Given the description of an element on the screen output the (x, y) to click on. 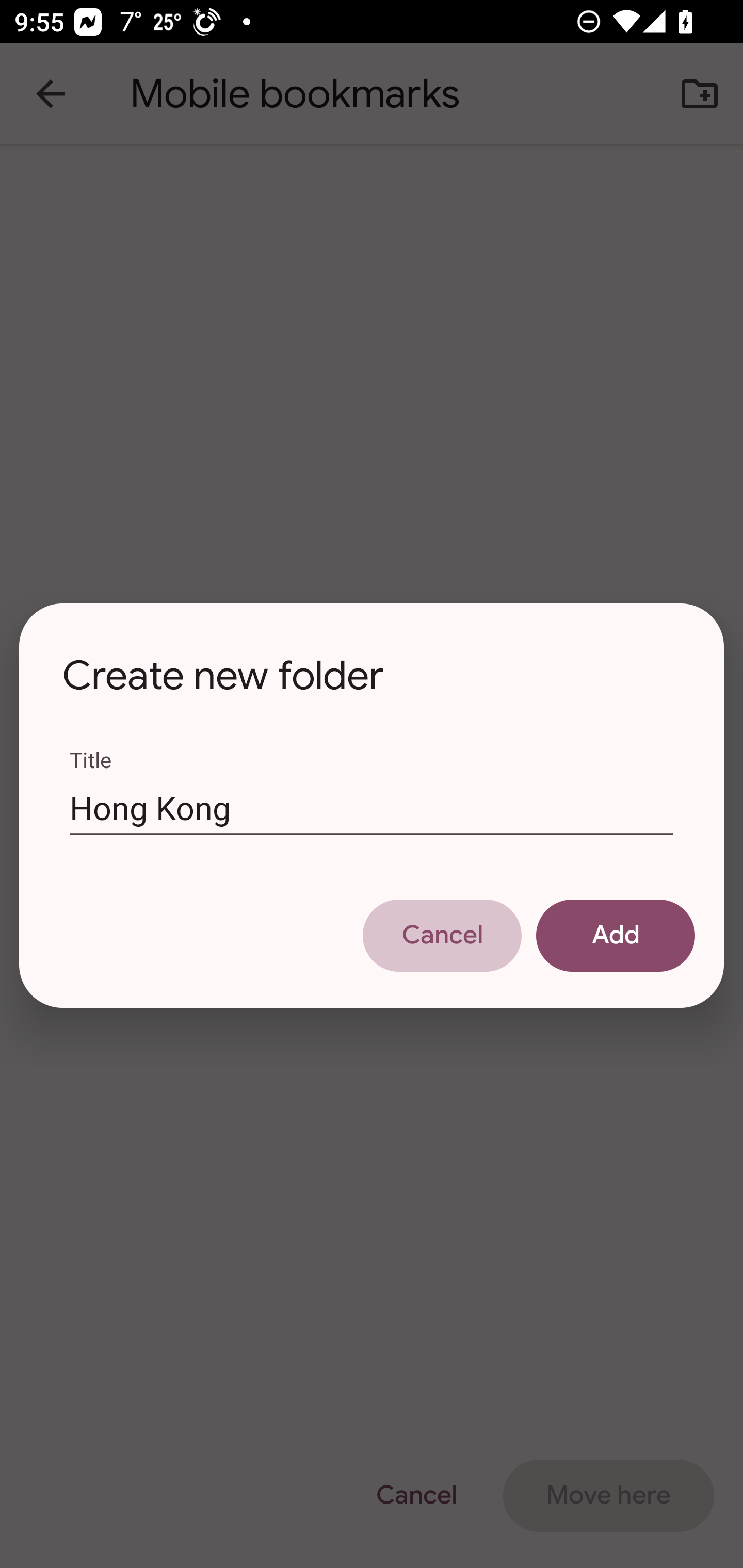
Hong Kong (371, 807)
Cancel (441, 935)
Add (615, 935)
